Given the description of an element on the screen output the (x, y) to click on. 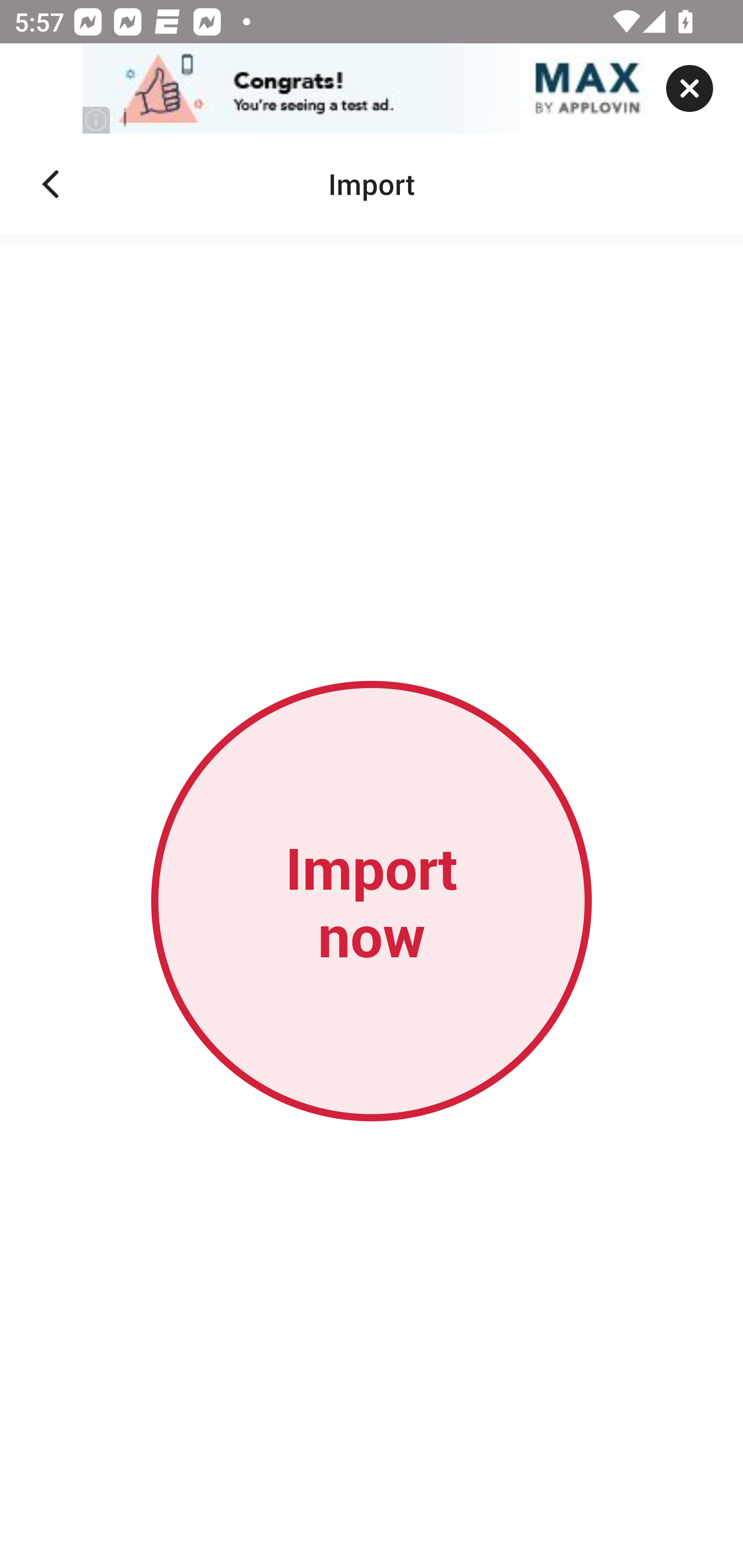
app-monetization (371, 88)
(i) (96, 119)
Navigate up (50, 184)
